Given the description of an element on the screen output the (x, y) to click on. 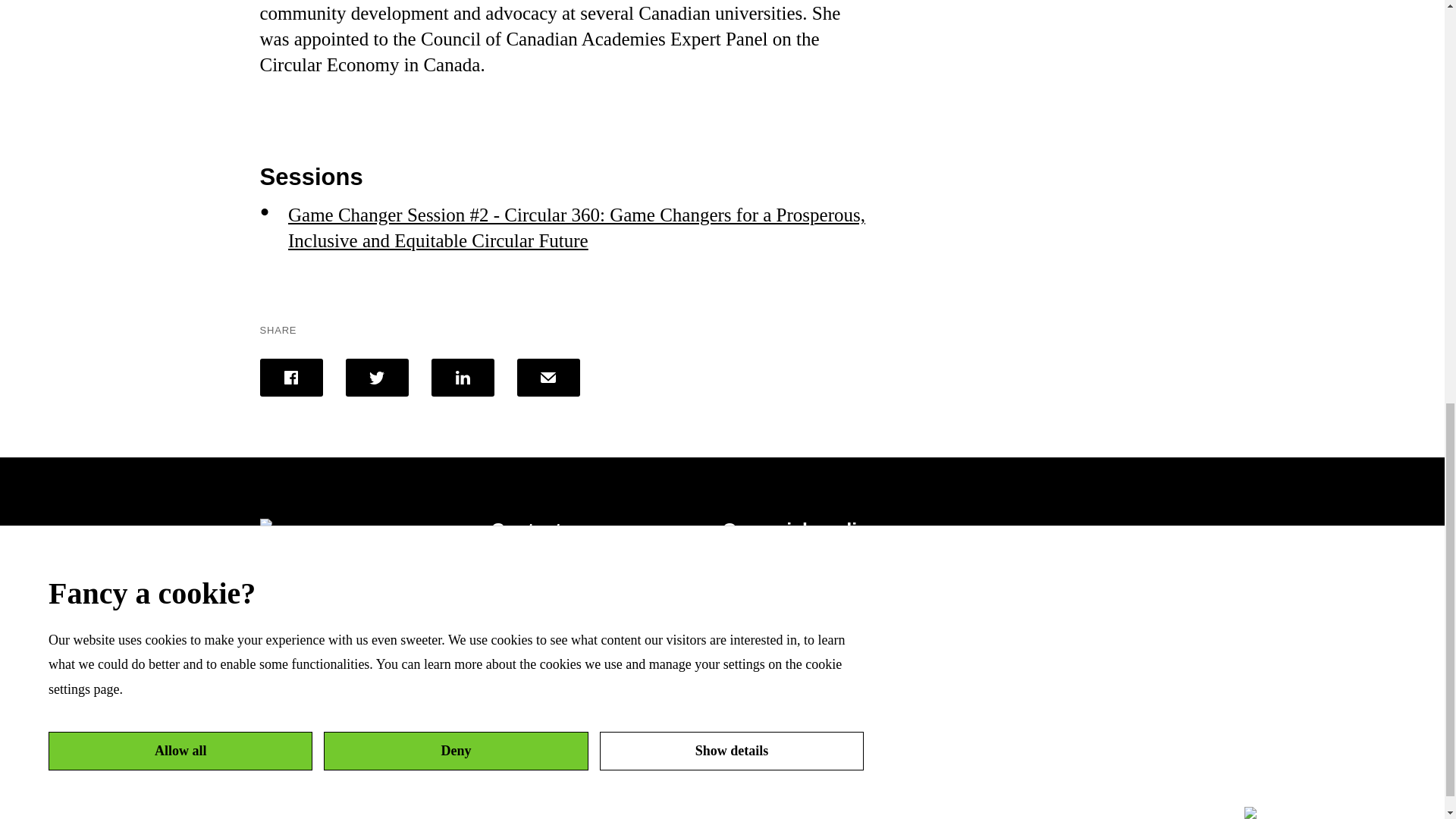
Show details (731, 185)
Allow all (180, 280)
Deny (455, 255)
